Given the description of an element on the screen output the (x, y) to click on. 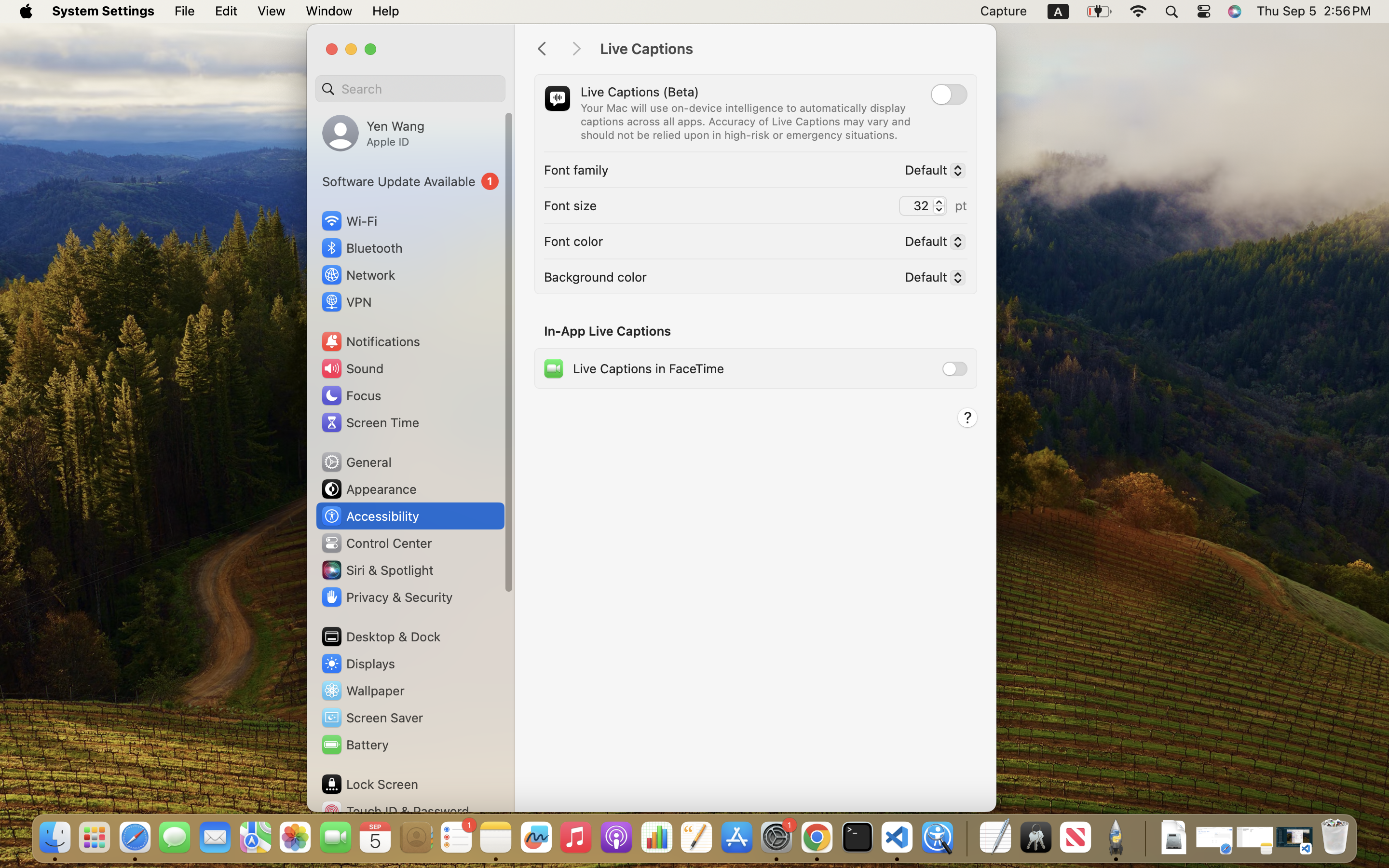
Screen Saver Element type: AXStaticText (371, 717)
Wallpaper Element type: AXStaticText (362, 690)
